Given the description of an element on the screen output the (x, y) to click on. 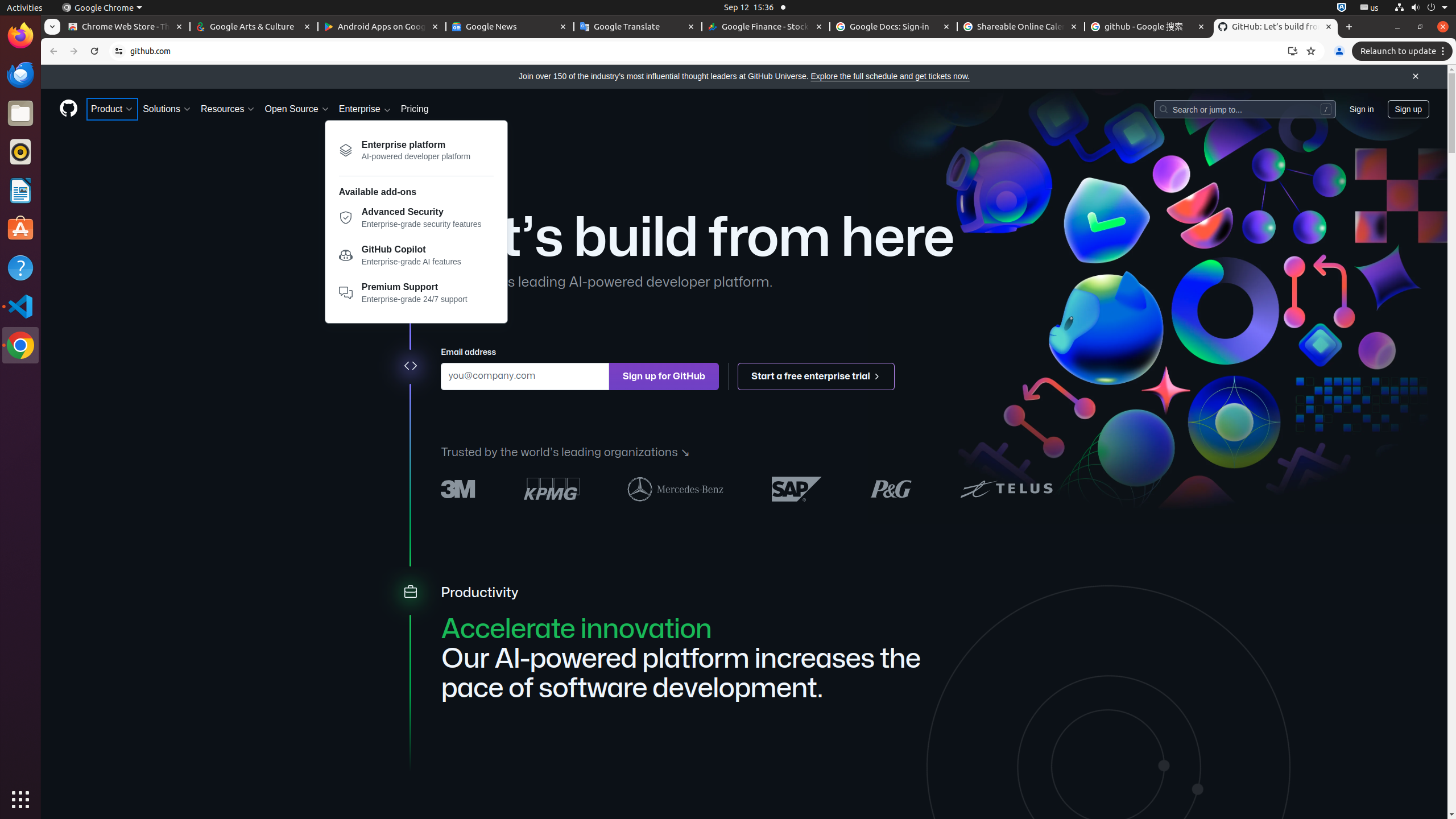
You Element type: push-button (1339, 50)
Google Arts & Culture - Memory usage - 60.0 MB Element type: page-tab (253, 26)
Start a free enterprise trial  Element type: link (816, 376)
Google Chrome Element type: menu (101, 7)
Sign up for GitHub Element type: push-button (663, 376)
